Given the description of an element on the screen output the (x, y) to click on. 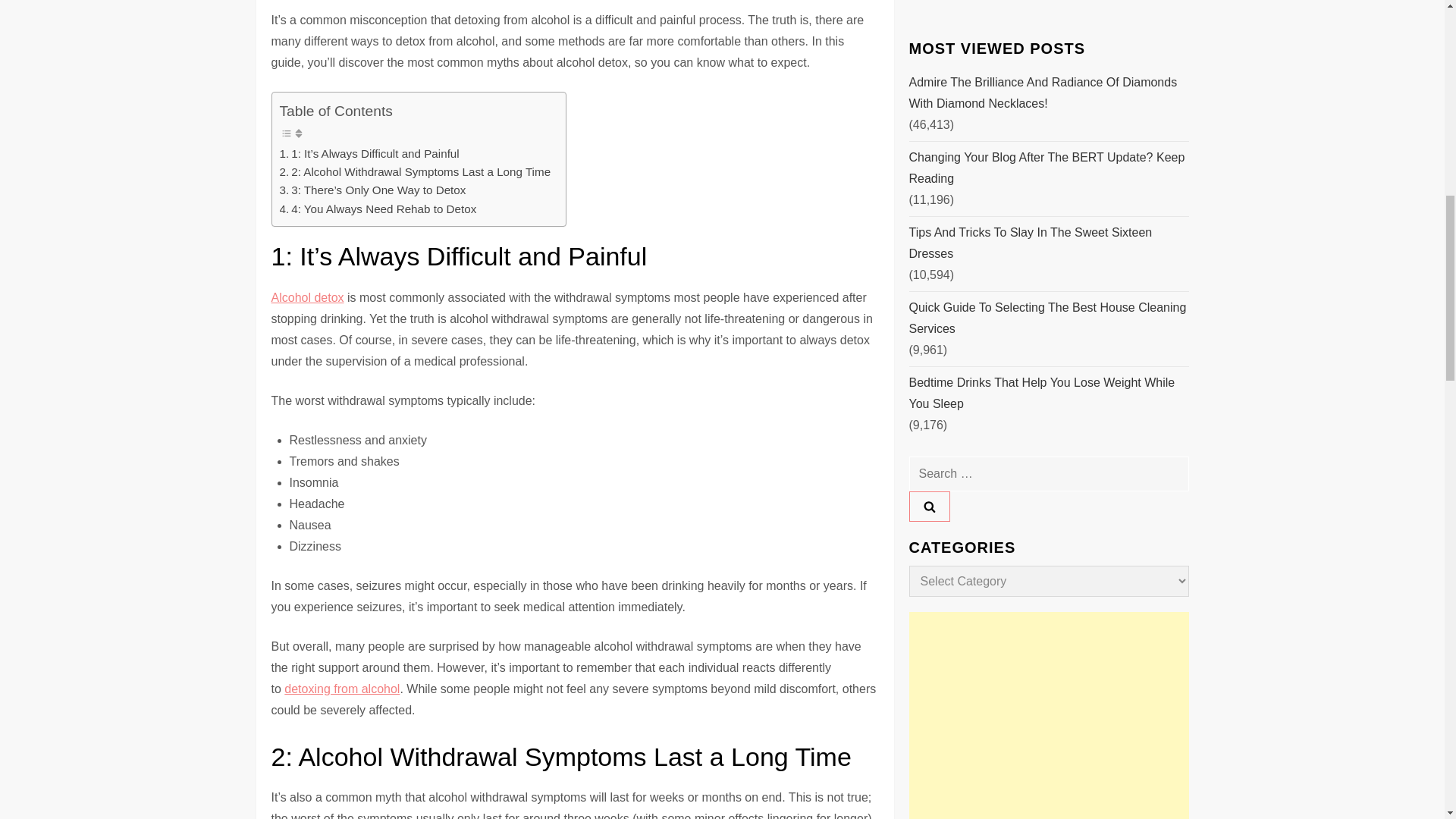
2: Alcohol Withdrawal Symptoms Last a Long Time (414, 171)
Alcohol detox (306, 297)
Advertisement (1048, 133)
4: You Always Need Rehab to Detox (377, 208)
detoxing from alcohol (340, 688)
Visit BlogAdda.com to discover Indian blogs (938, 264)
4: You Always Need Rehab to Detox (377, 208)
2: Alcohol Withdrawal Symptoms Last a Long Time (414, 171)
